Given the description of an element on the screen output the (x, y) to click on. 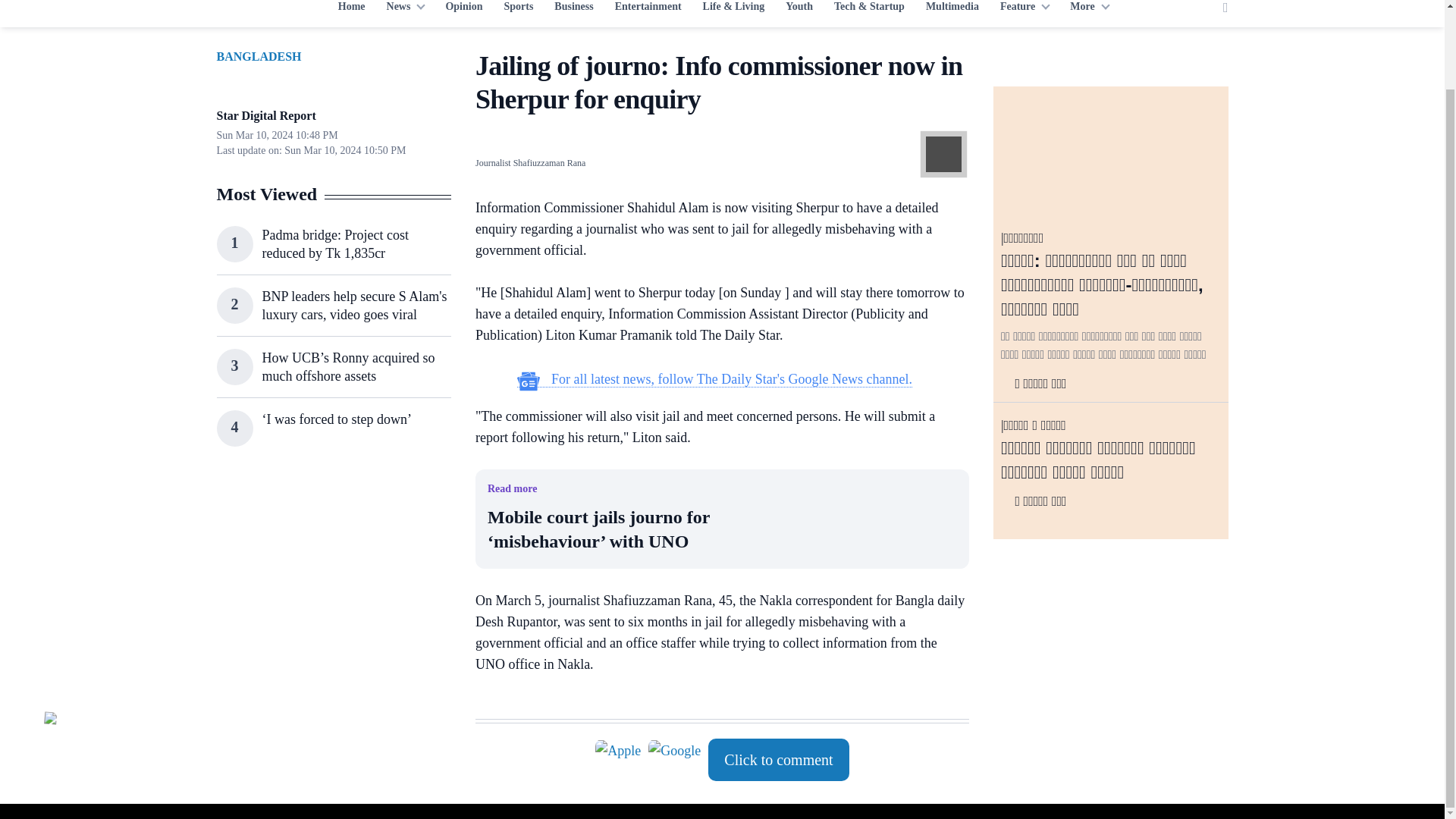
Youth (799, 10)
News (405, 10)
Home (351, 10)
Entertainment (647, 10)
Opinion (463, 10)
Sports (518, 10)
Multimedia (952, 10)
Feature (1024, 10)
Business (573, 10)
